Given the description of an element on the screen output the (x, y) to click on. 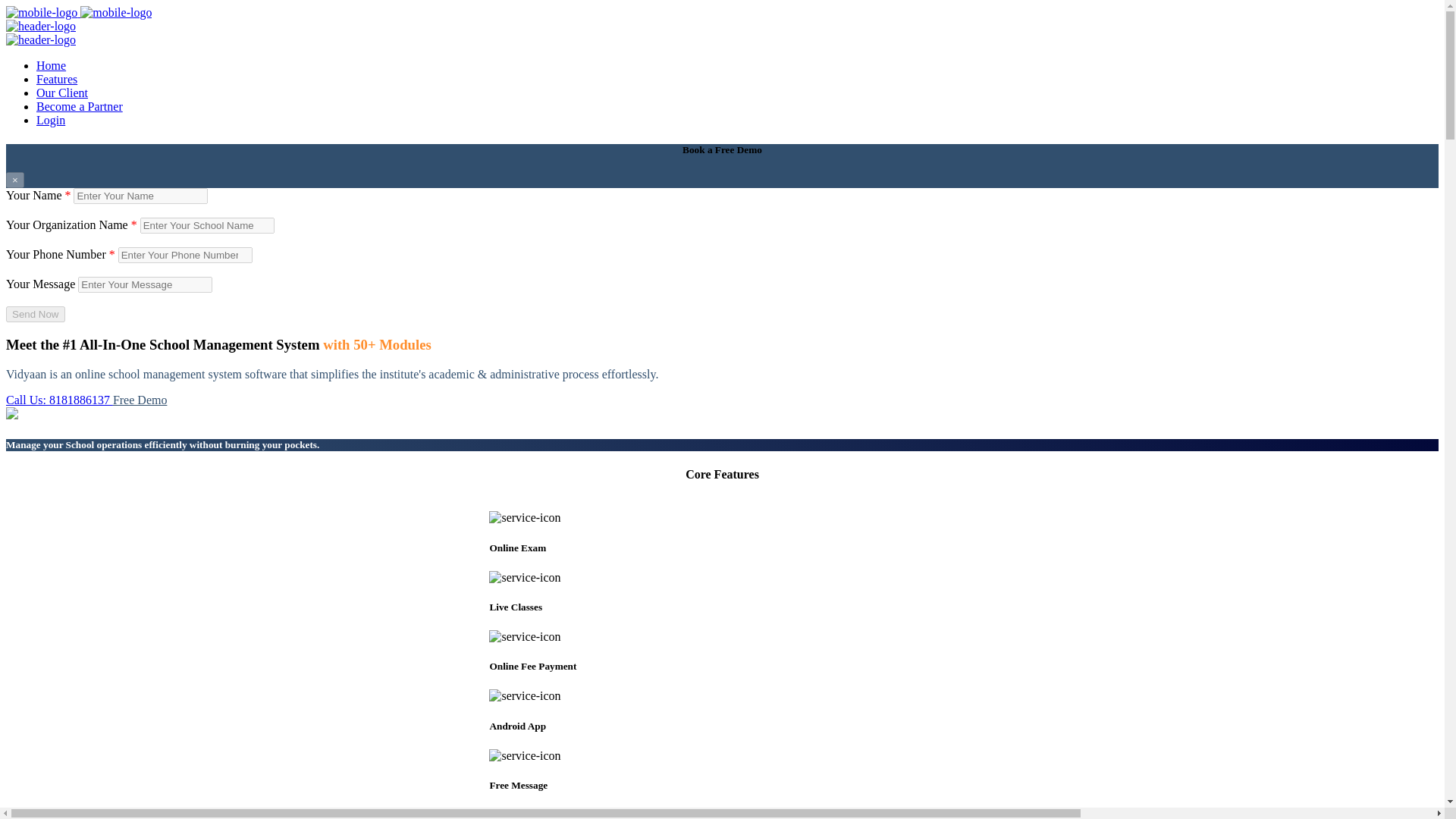
Free Demo (140, 399)
Home (50, 65)
Login (50, 119)
Become a Partner (79, 106)
Our Client (61, 92)
Call Us: 8181886137 (59, 399)
Send Now (35, 314)
Features (56, 78)
